Given the description of an element on the screen output the (x, y) to click on. 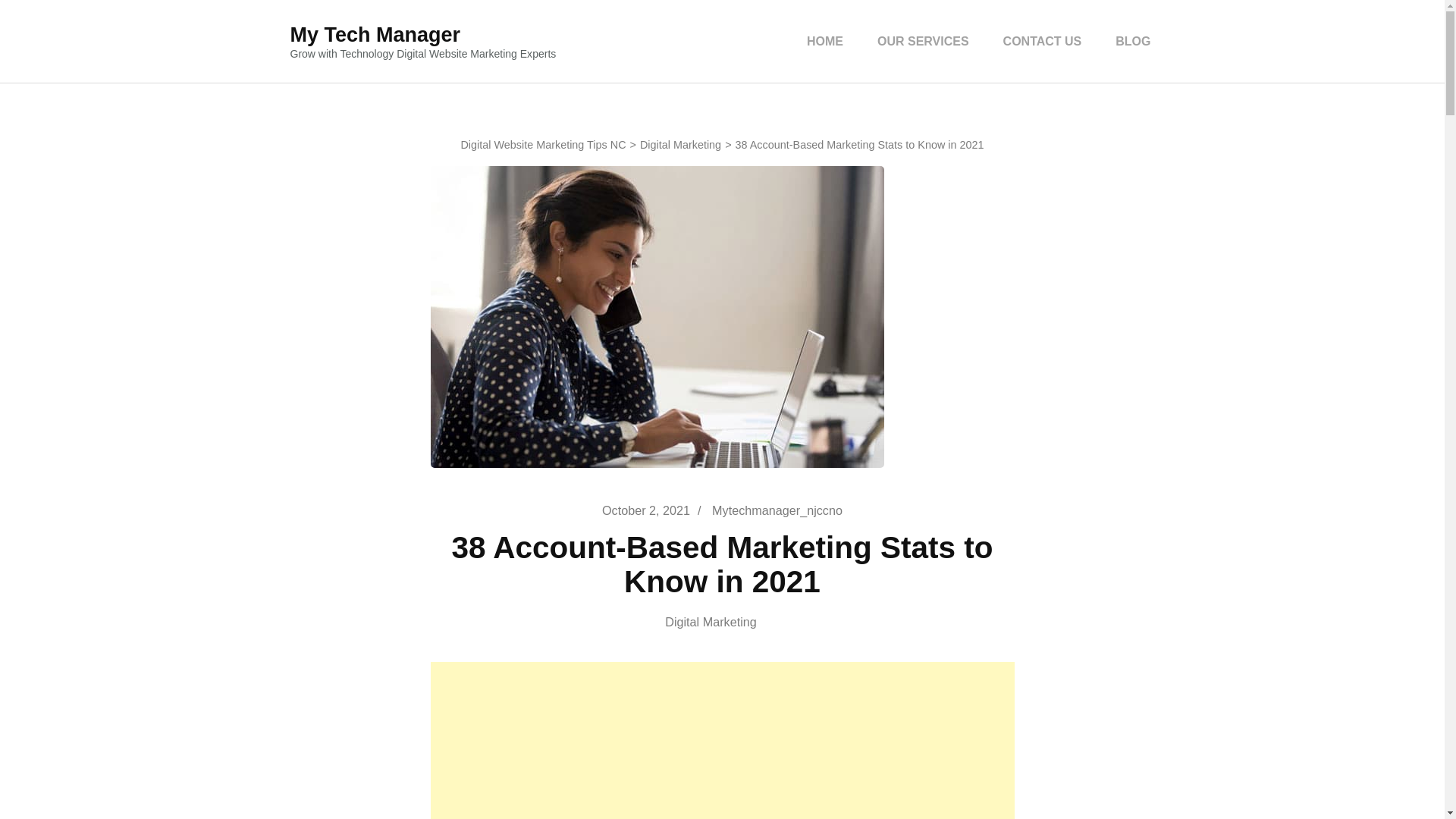
October 2, 2021 (646, 509)
Digital Marketing (721, 621)
BLOG (1133, 41)
Digital Marketing (680, 144)
CONTACT US (1042, 41)
Advertisement (722, 740)
Digital Website Marketing Tips NC (543, 144)
HOME (825, 41)
My Tech Manager (374, 34)
OUR SERVICES (922, 41)
